Given the description of an element on the screen output the (x, y) to click on. 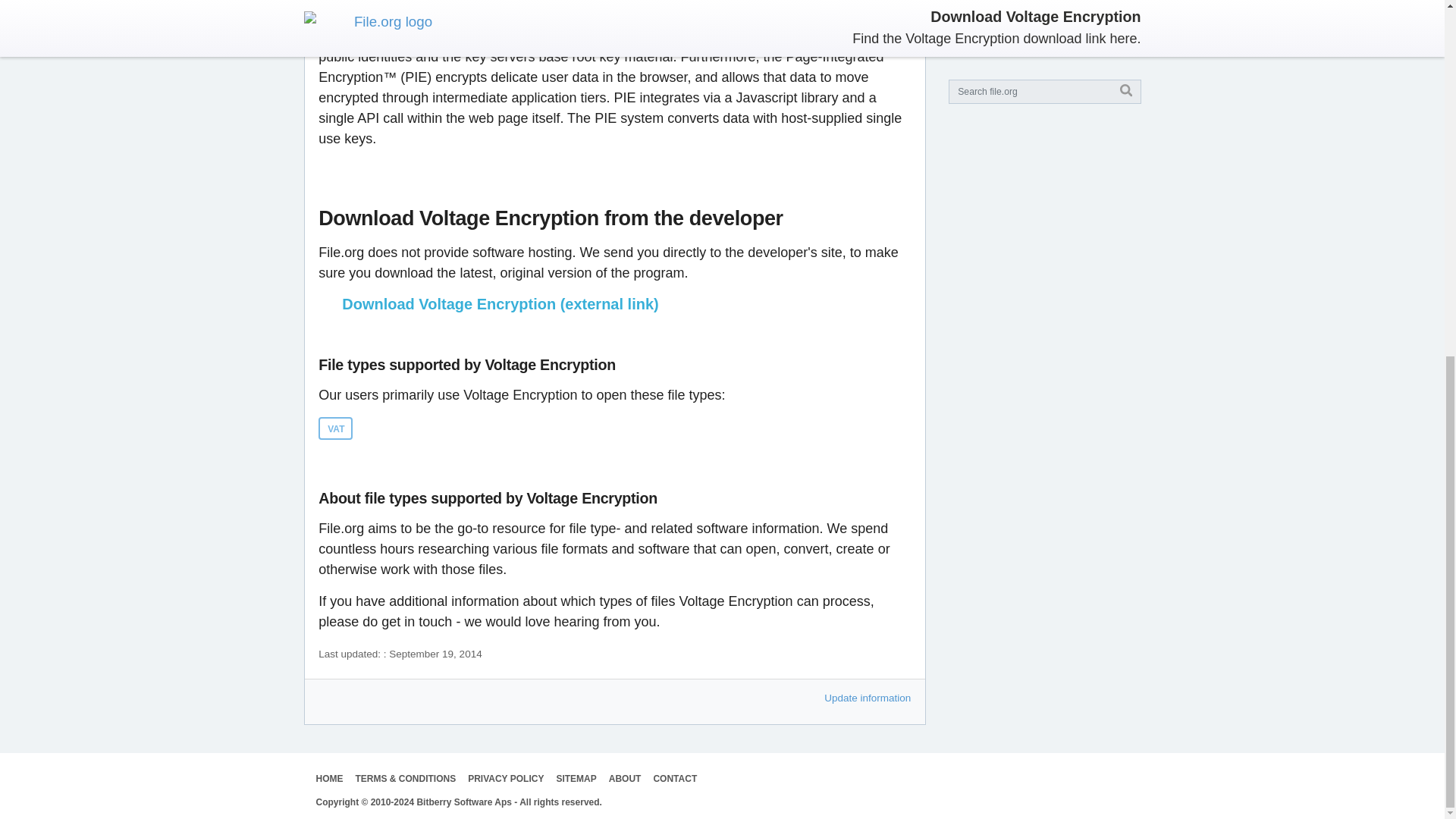
CONTACT (674, 778)
ABOUT (625, 778)
Update information (867, 697)
VAT (335, 427)
Click to download Voltage Encryption (614, 303)
SITEMAP (575, 778)
HOME (328, 778)
PRIVACY POLICY (505, 778)
